Given the description of an element on the screen output the (x, y) to click on. 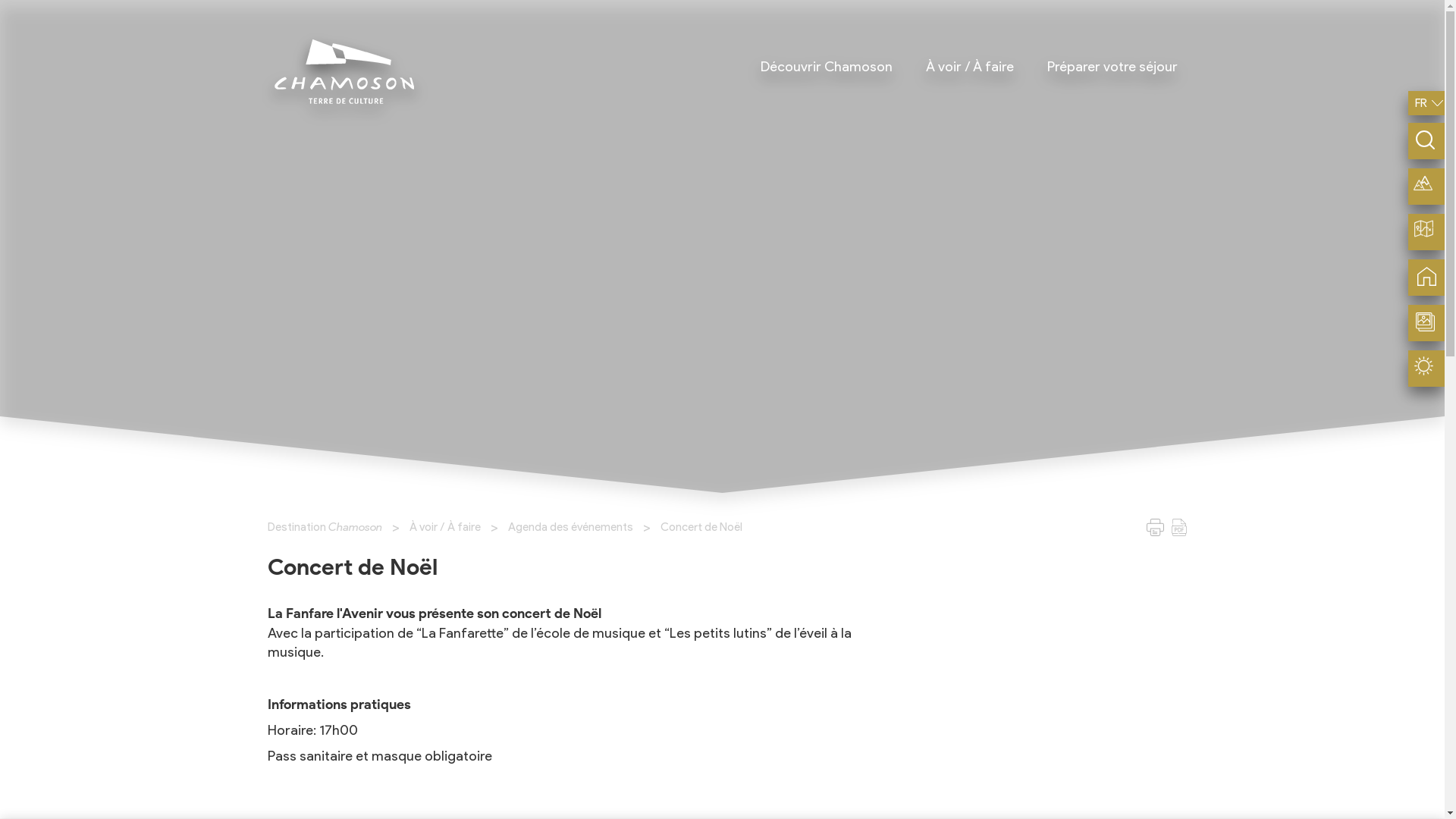
Rechercher Element type: text (51, 13)
FR Element type: text (1421, 103)
Destination Chamoson Element type: text (323, 526)
